Given the description of an element on the screen output the (x, y) to click on. 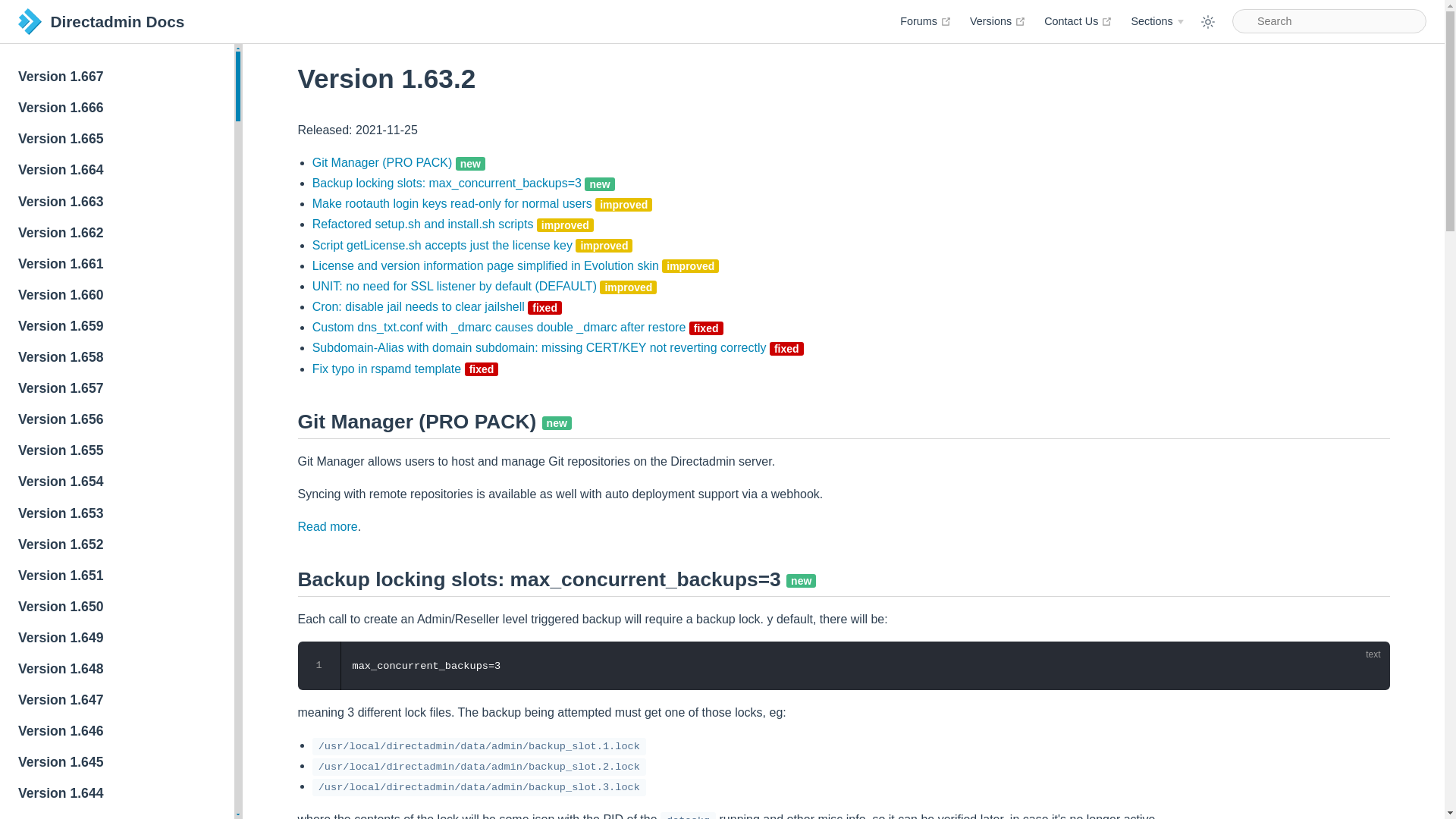
Version 1.658 (997, 21)
toggle color mode (117, 357)
Version 1.666 (1207, 21)
Version 1.657 (117, 108)
Version 1.660 (117, 388)
Version 1.667 (117, 295)
Version 1.656 (117, 77)
Version 1.665 (117, 419)
